Given the description of an element on the screen output the (x, y) to click on. 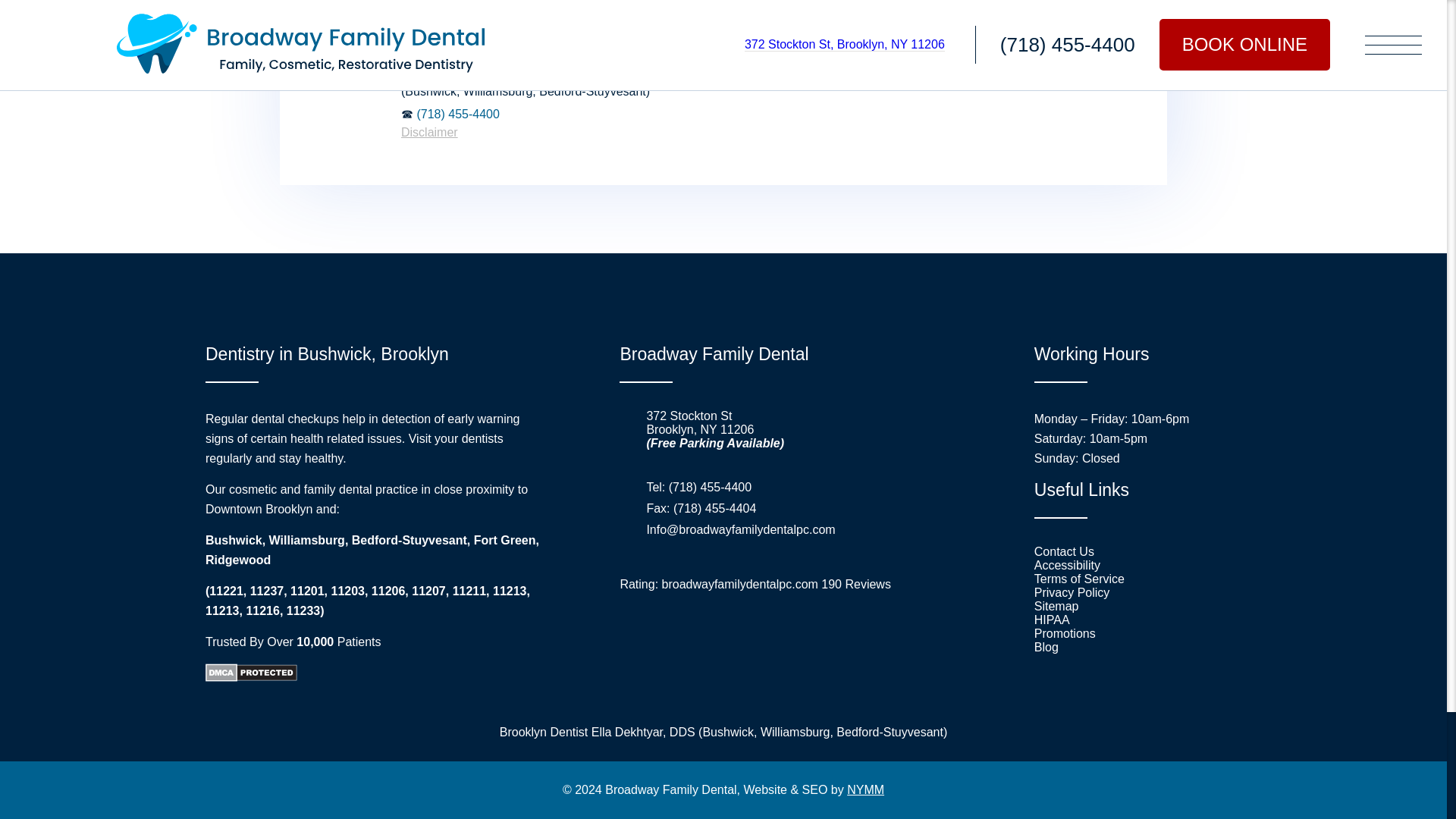
DMCA.com Protection Status (251, 676)
Facebook (633, 638)
Twitter (673, 638)
Instagram (753, 638)
YouTube (794, 638)
LinkedIn (714, 638)
